Given the description of an element on the screen output the (x, y) to click on. 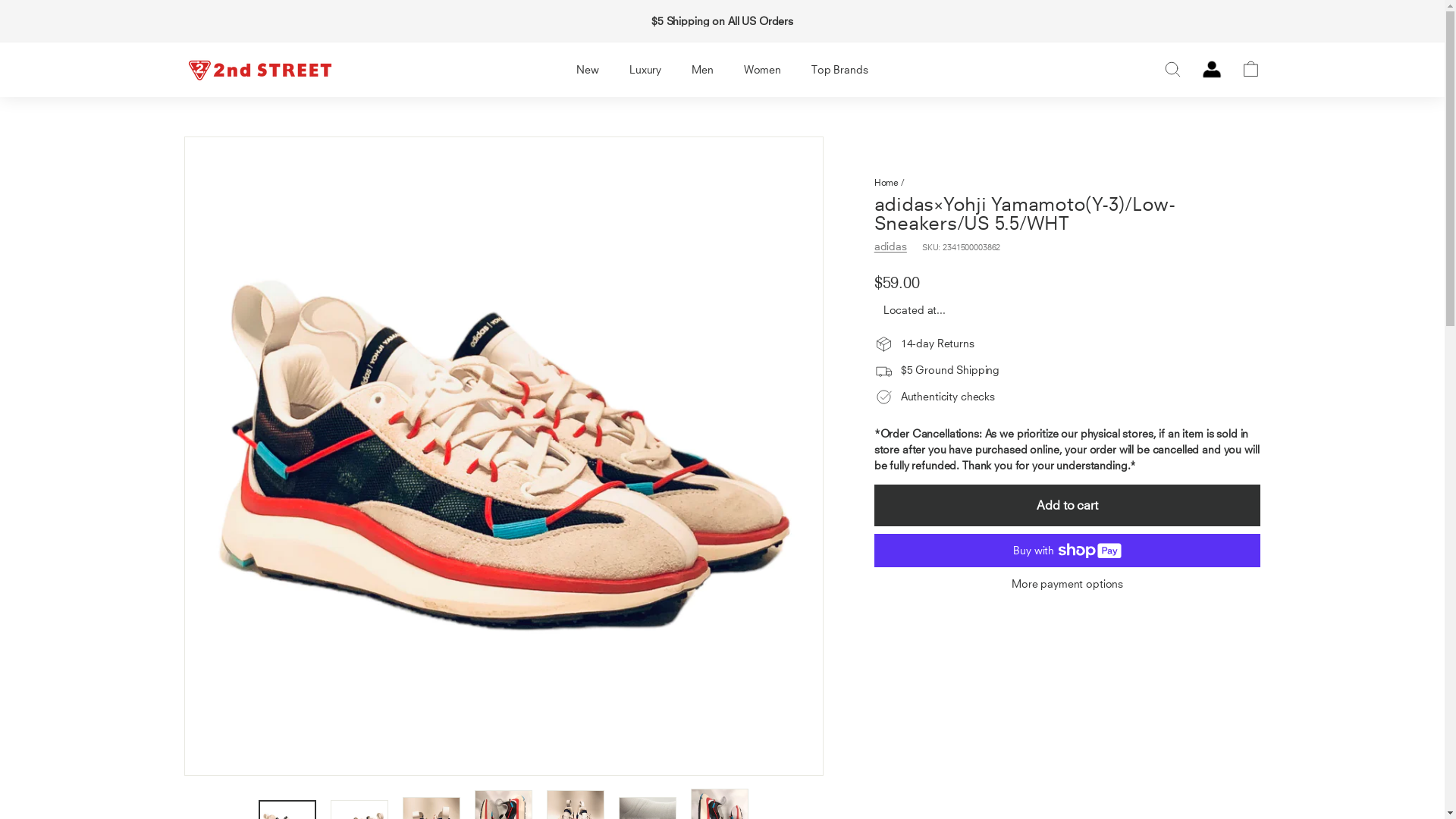
Add to cart Element type: text (1067, 505)
Men Element type: text (702, 68)
New Element type: text (587, 68)
Luxury Element type: text (645, 68)
Search Element type: text (1171, 69)
adidas Element type: text (890, 245)
More payment options Element type: text (1067, 583)
Home Element type: text (886, 182)
Women Element type: text (762, 68)
Skip to content Element type: text (0, 0)
Top Brands Element type: text (839, 68)
